Given the description of an element on the screen output the (x, y) to click on. 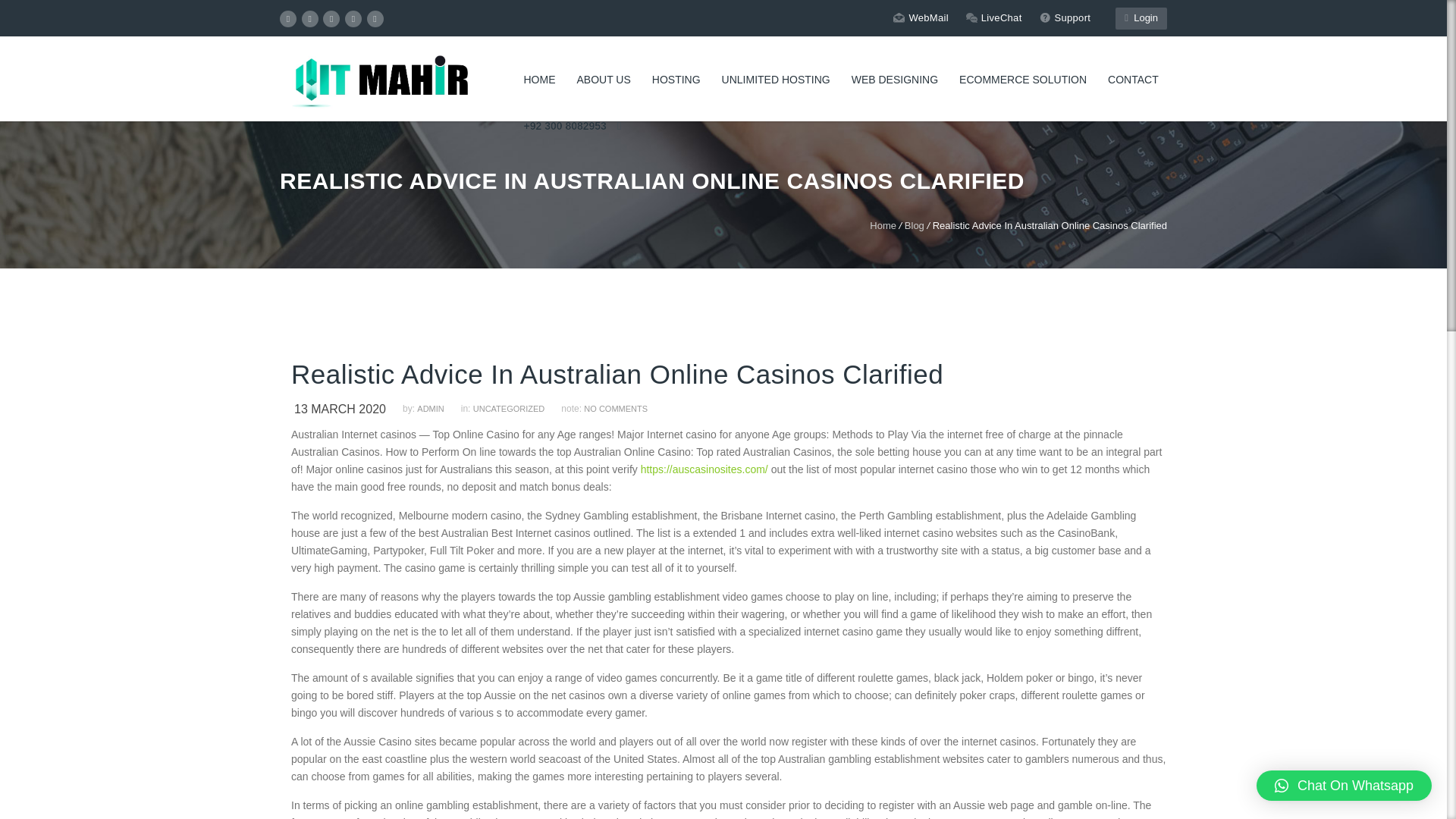
Click to leave a comment (615, 408)
WEB DESIGNING (895, 79)
ADMIN (436, 408)
Blog (914, 225)
UNLIMITED HOSTING (776, 79)
ABOUT US (603, 79)
Home (882, 225)
UNCATEGORIZED (516, 408)
13 MARCH 2020 (346, 408)
Support (1064, 17)
